Given the description of an element on the screen output the (x, y) to click on. 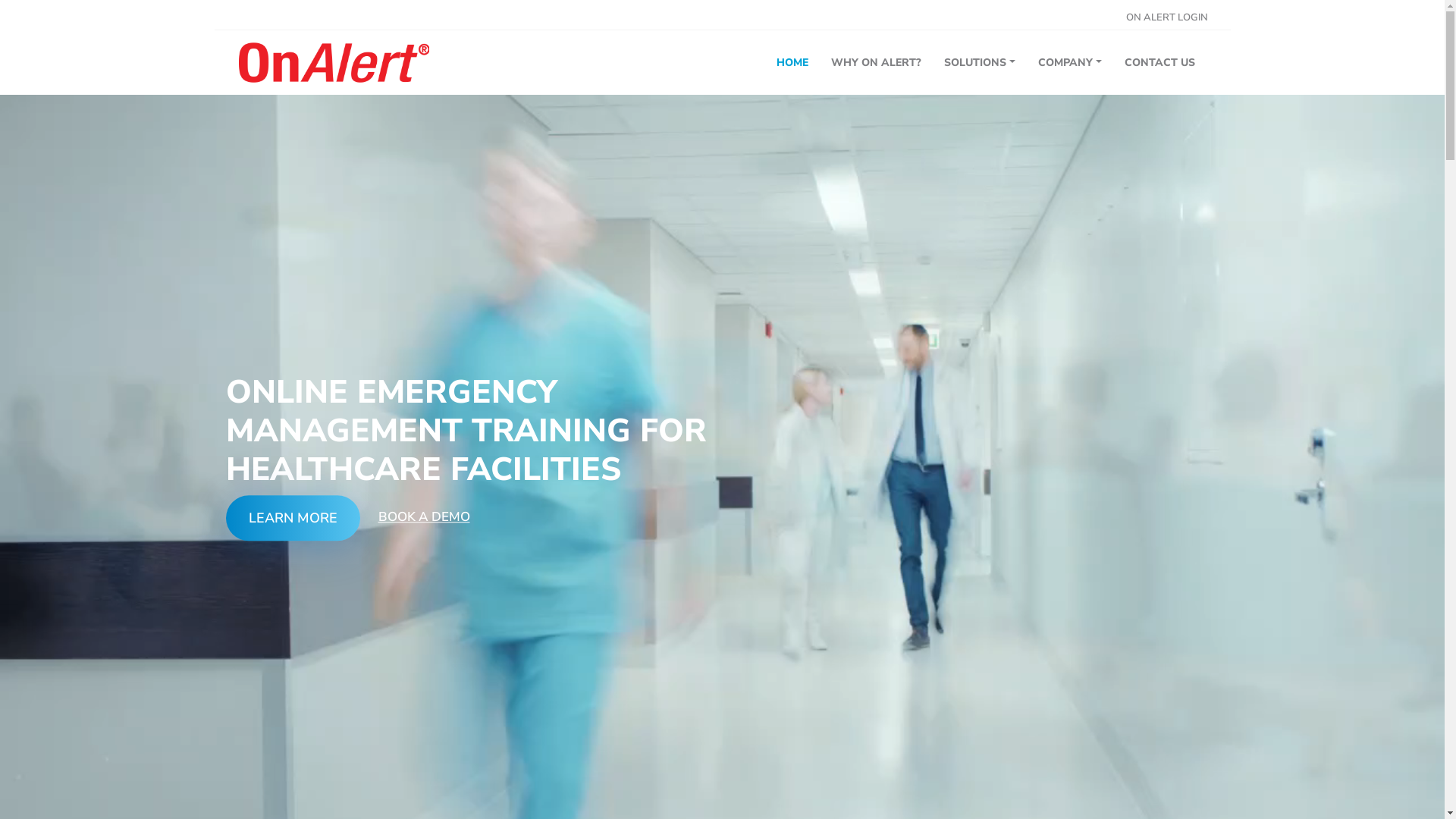
HOME Element type: text (792, 62)
WHY ON ALERT? Element type: text (876, 62)
CONTACT US Element type: text (1158, 62)
OnAlert Element type: hover (333, 62)
SOLUTIONS Element type: text (979, 62)
ON ALERT LOGIN Element type: text (1166, 17)
BOOK A DEMO Element type: text (423, 517)
COMPANY Element type: text (1069, 62)
LEARN MORE Element type: text (292, 517)
